Given the description of an element on the screen output the (x, y) to click on. 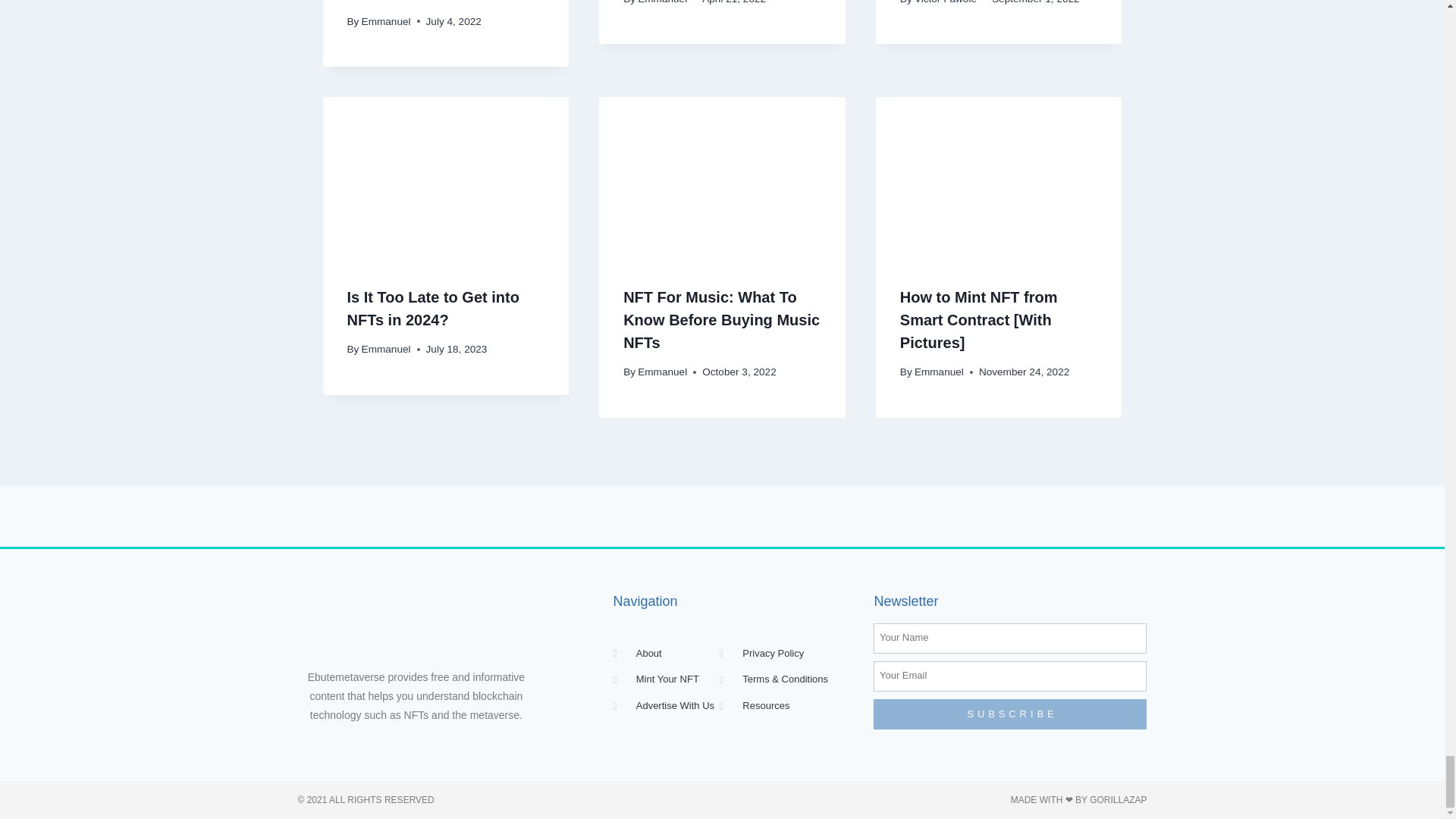
Is It Too Late to Get into NFTs in 2024? 9 (446, 179)
NFT For Music: What To Know Before Buying Music NFTs 10 (721, 179)
